Given the description of an element on the screen output the (x, y) to click on. 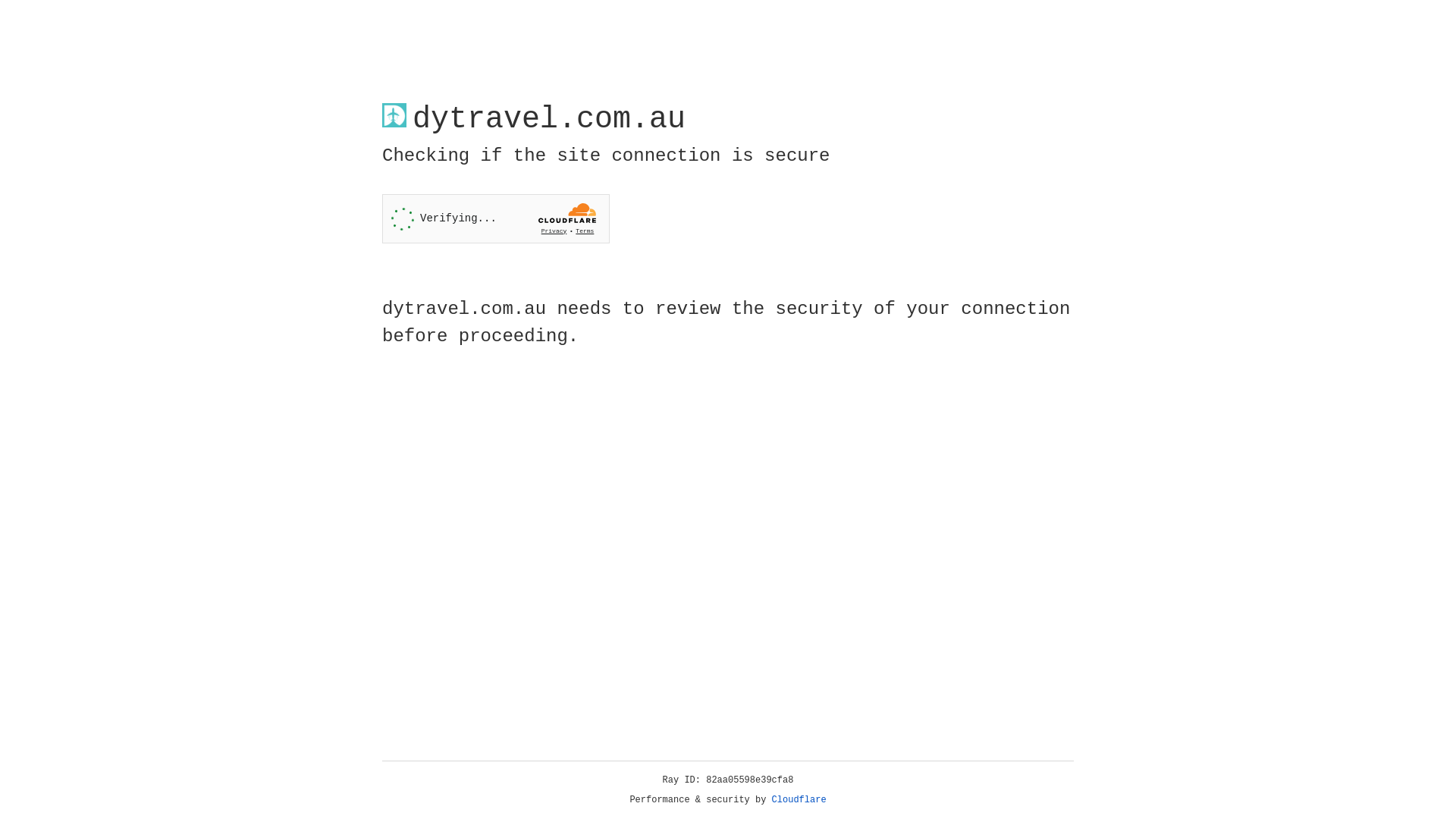
Widget containing a Cloudflare security challenge Element type: hover (495, 218)
Cloudflare Element type: text (798, 799)
